Given the description of an element on the screen output the (x, y) to click on. 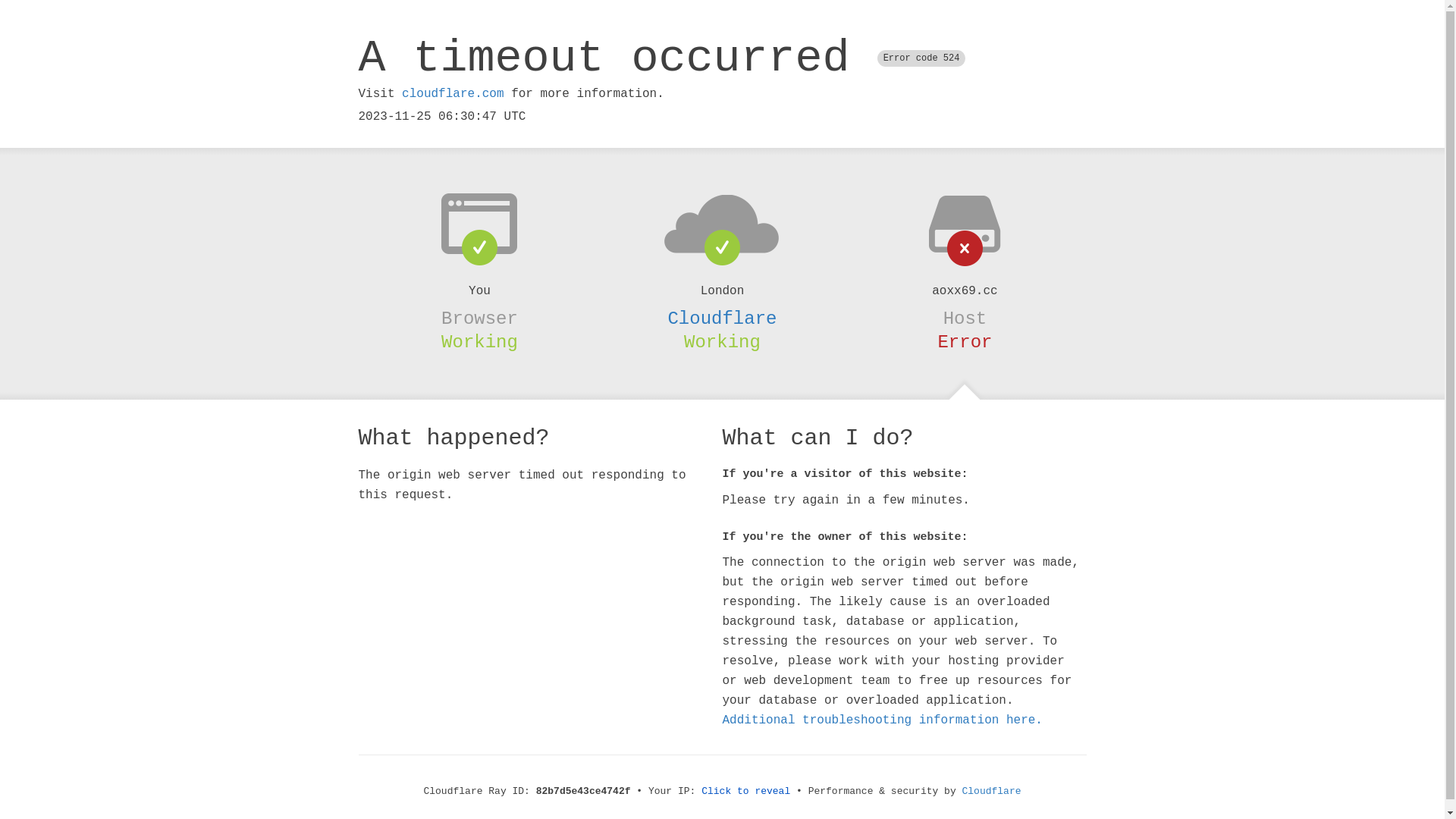
Click to reveal Element type: text (745, 791)
Cloudflare Element type: text (721, 318)
cloudflare.com Element type: text (452, 93)
Cloudflare Element type: text (991, 791)
Additional troubleshooting information here. Element type: text (881, 720)
